Given the description of an element on the screen output the (x, y) to click on. 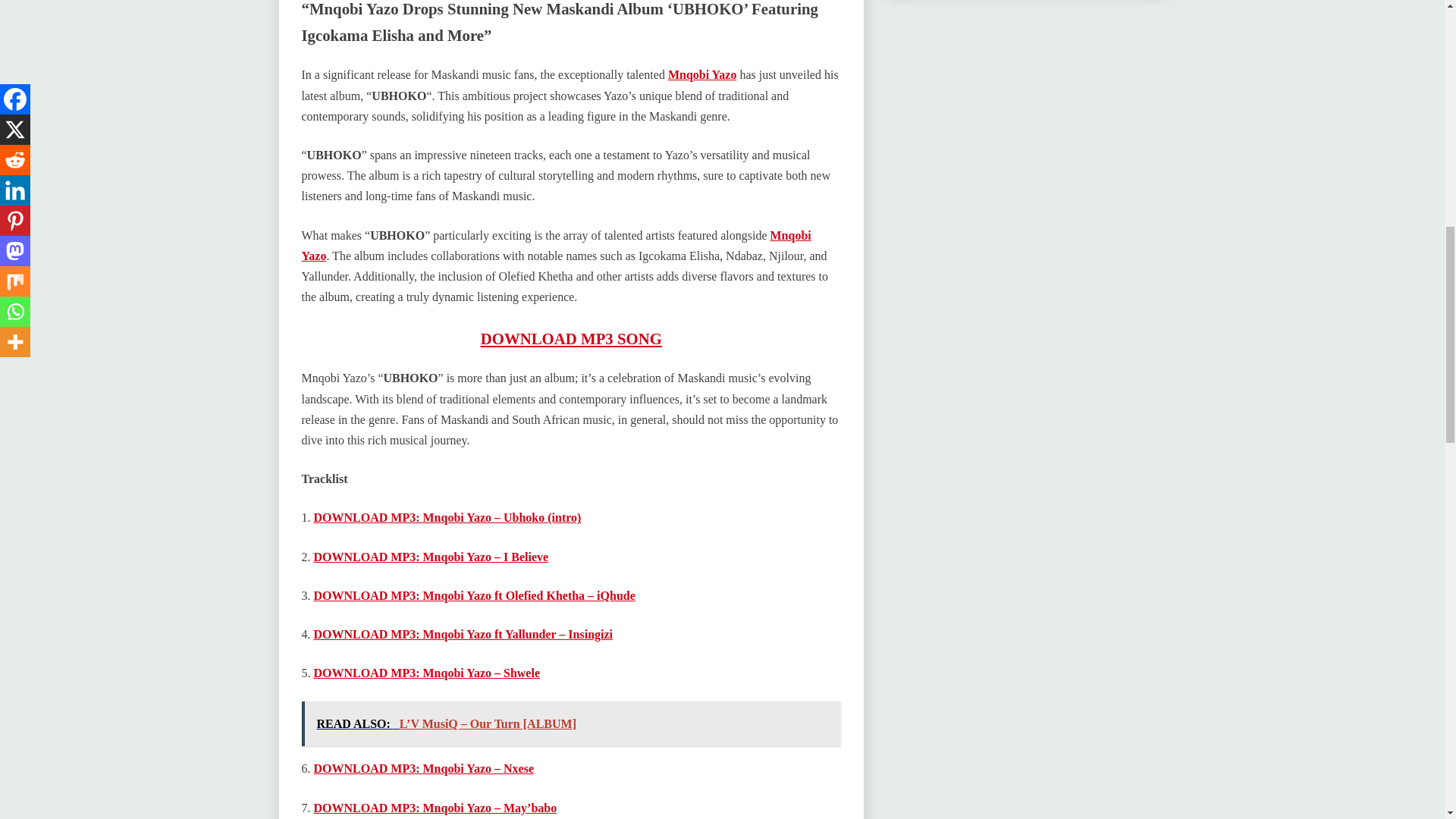
DOWNLOAD MP3 SONG (571, 338)
Mnqobi Yazo (702, 74)
Mnqobi Yazo (555, 245)
